Given the description of an element on the screen output the (x, y) to click on. 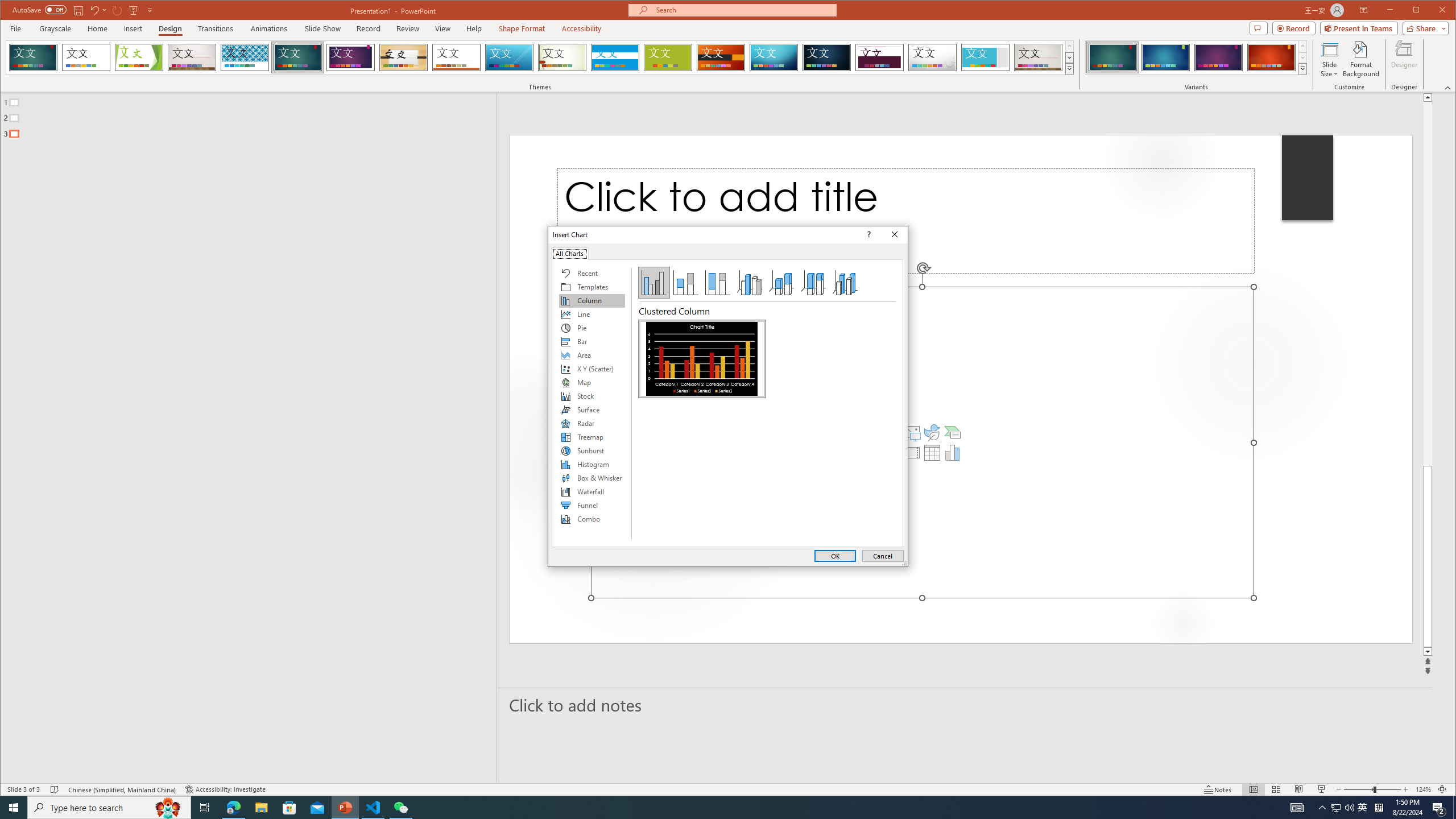
Berlin (720, 57)
Damask (826, 57)
All Charts (569, 253)
Insert Chart (952, 452)
AutomationID: SlideThemesGallery (540, 57)
